Given the description of an element on the screen output the (x, y) to click on. 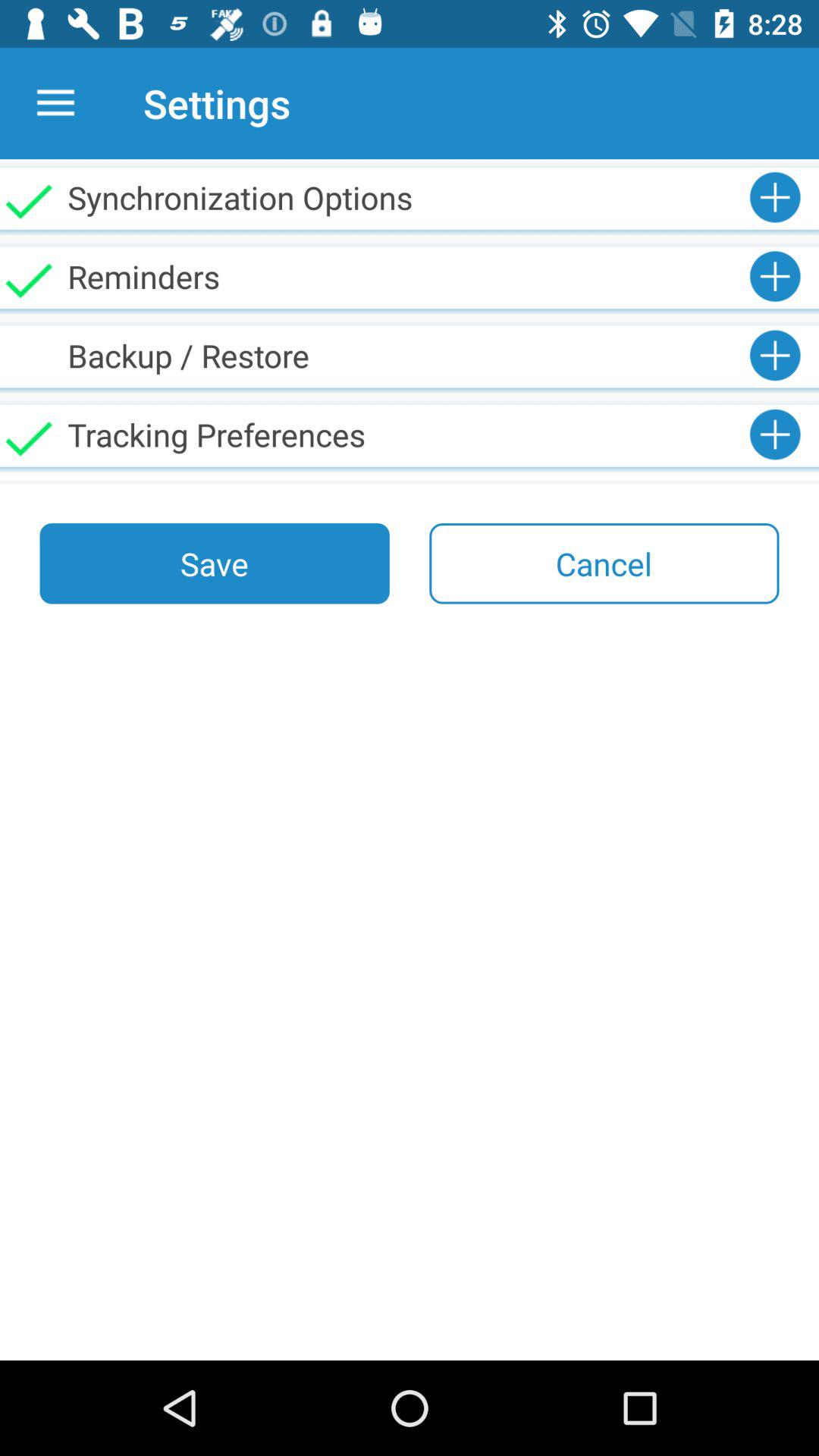
select item to the right of the save icon (604, 563)
